Given the description of an element on the screen output the (x, y) to click on. 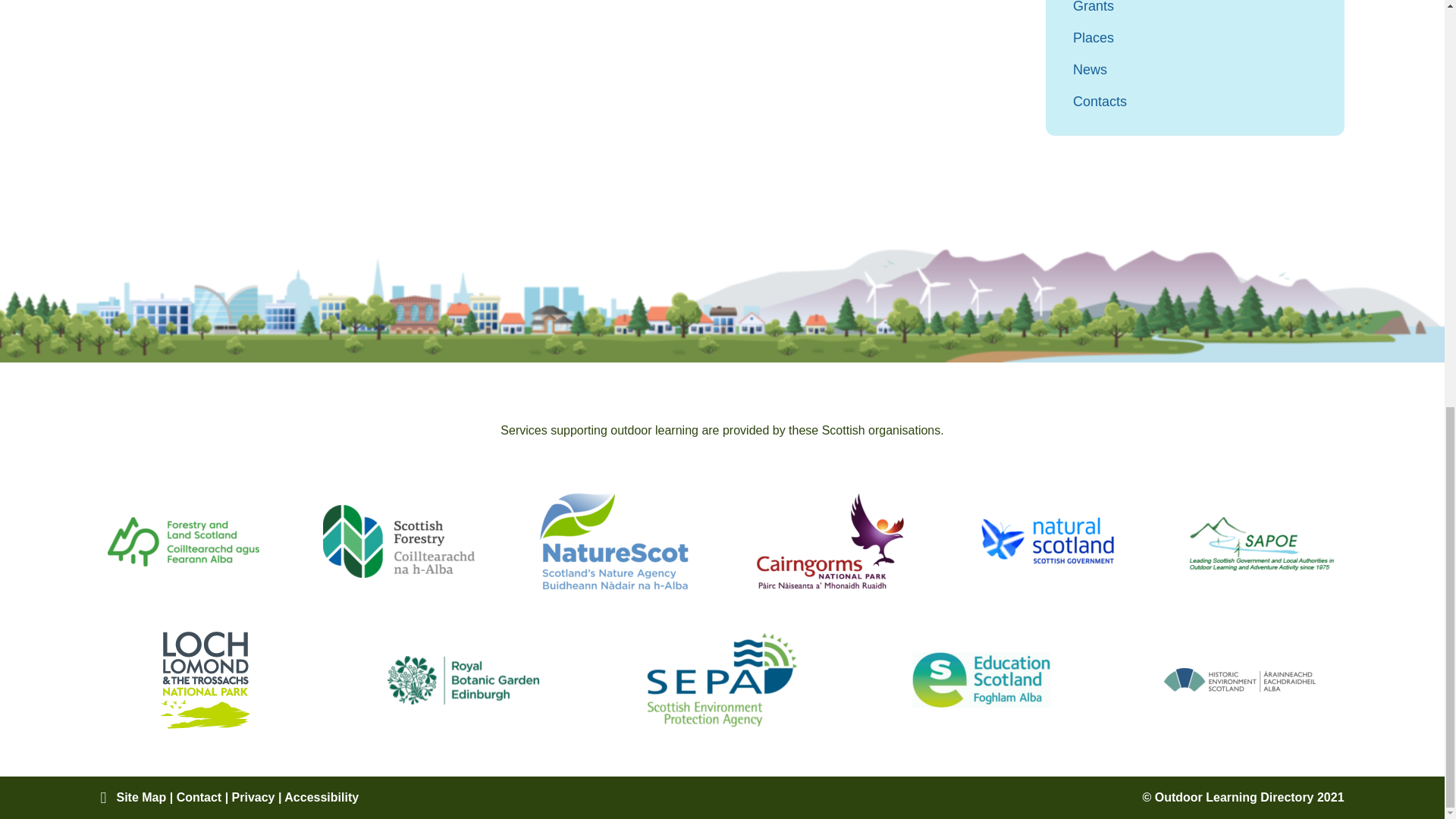
logo-scottishforestry (398, 541)
logo-forestryandlandscotland (183, 541)
Places (1195, 37)
Education Scotland logo (981, 679)
logo-sapoe (1260, 541)
Grants (1195, 8)
logo-cairngorms-natpark (829, 541)
logo-sepa (721, 679)
logo-royalbotanicgarden-edinburgh (462, 680)
logo-naturescot (614, 541)
logo-naturalscotland (1045, 541)
logo-lochlomond-trossachs-natpark (204, 679)
Contacts (1195, 101)
News (1195, 69)
